Given the description of an element on the screen output the (x, y) to click on. 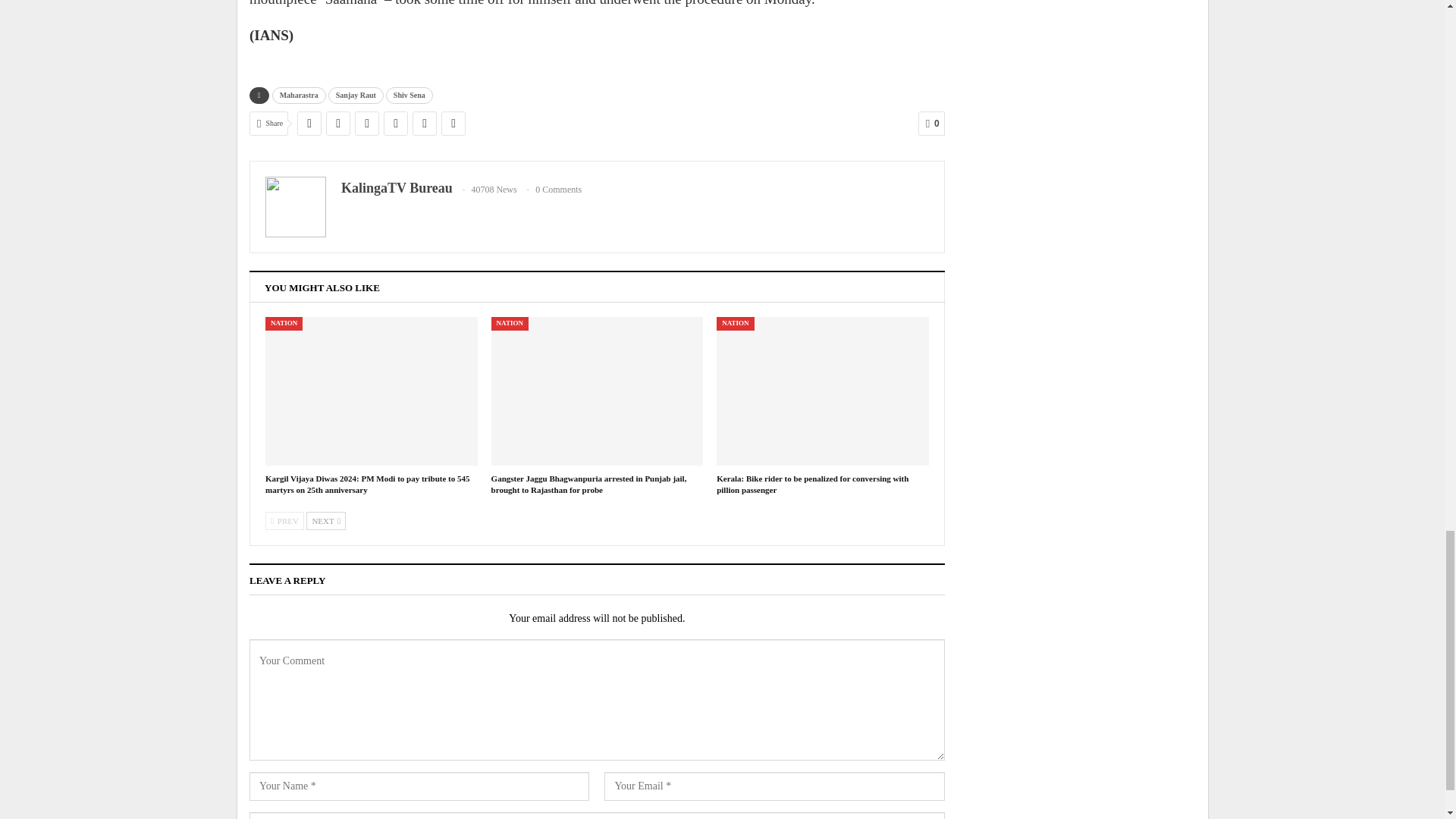
Shiv Sena (408, 95)
Sanjay Raut (356, 95)
Previous (284, 520)
Next (325, 520)
Maharastra (299, 95)
0 (931, 123)
